Given the description of an element on the screen output the (x, y) to click on. 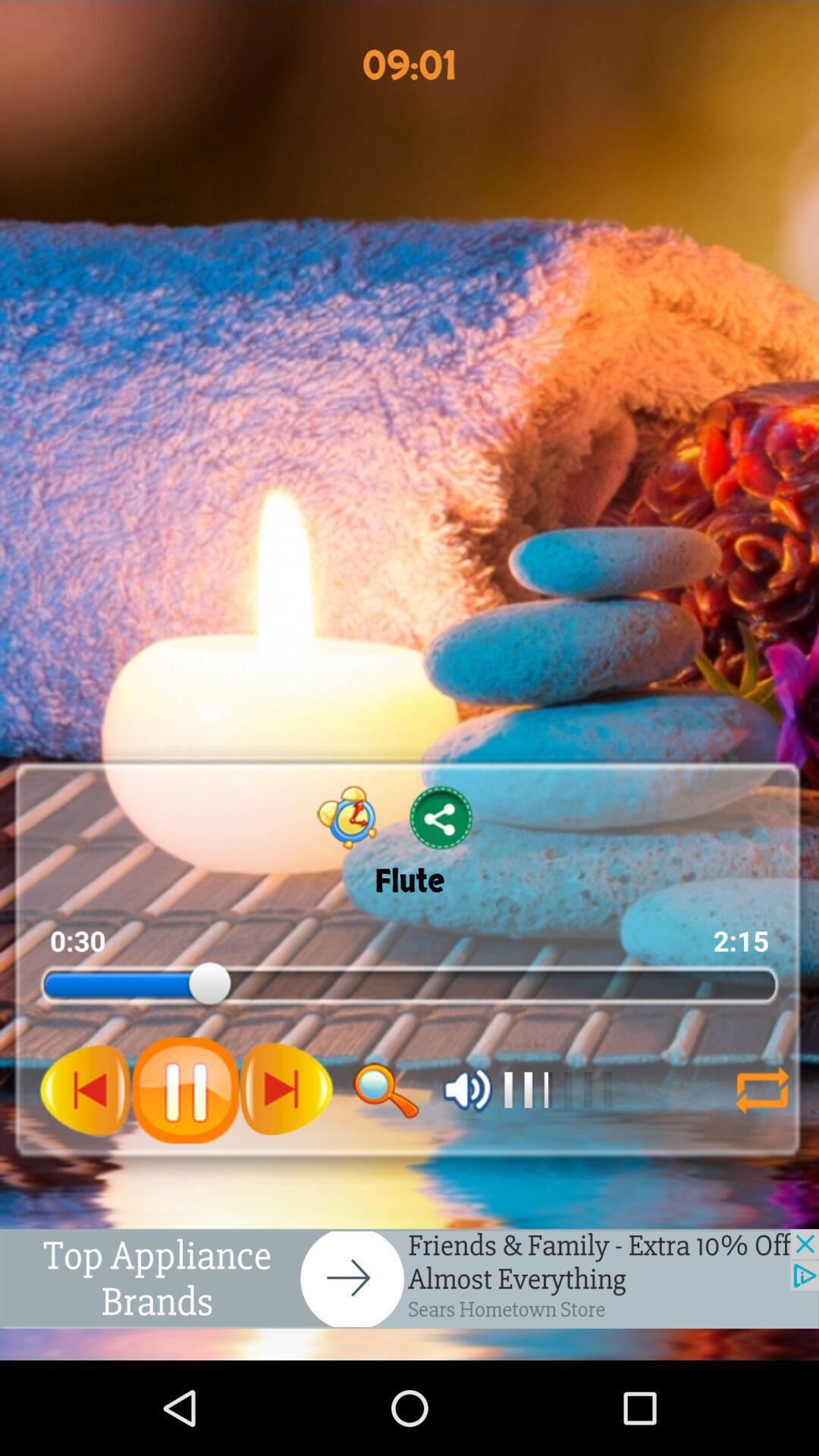
share the content (441, 817)
